Given the description of an element on the screen output the (x, y) to click on. 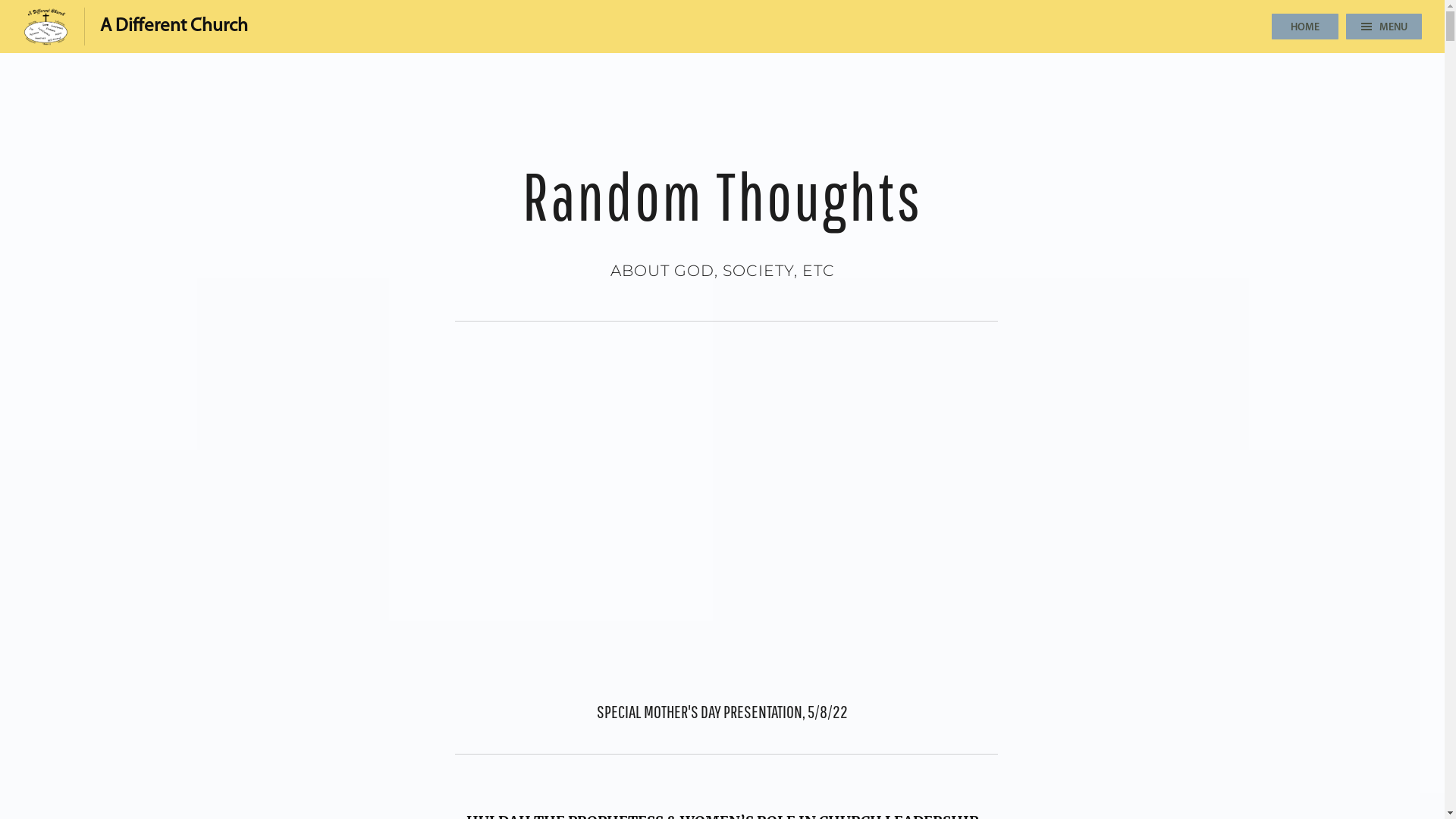
HOME Element type: text (1304, 26)
MENU Element type: text (1383, 26)
A Different Church Element type: text (134, 26)
